Given the description of an element on the screen output the (x, y) to click on. 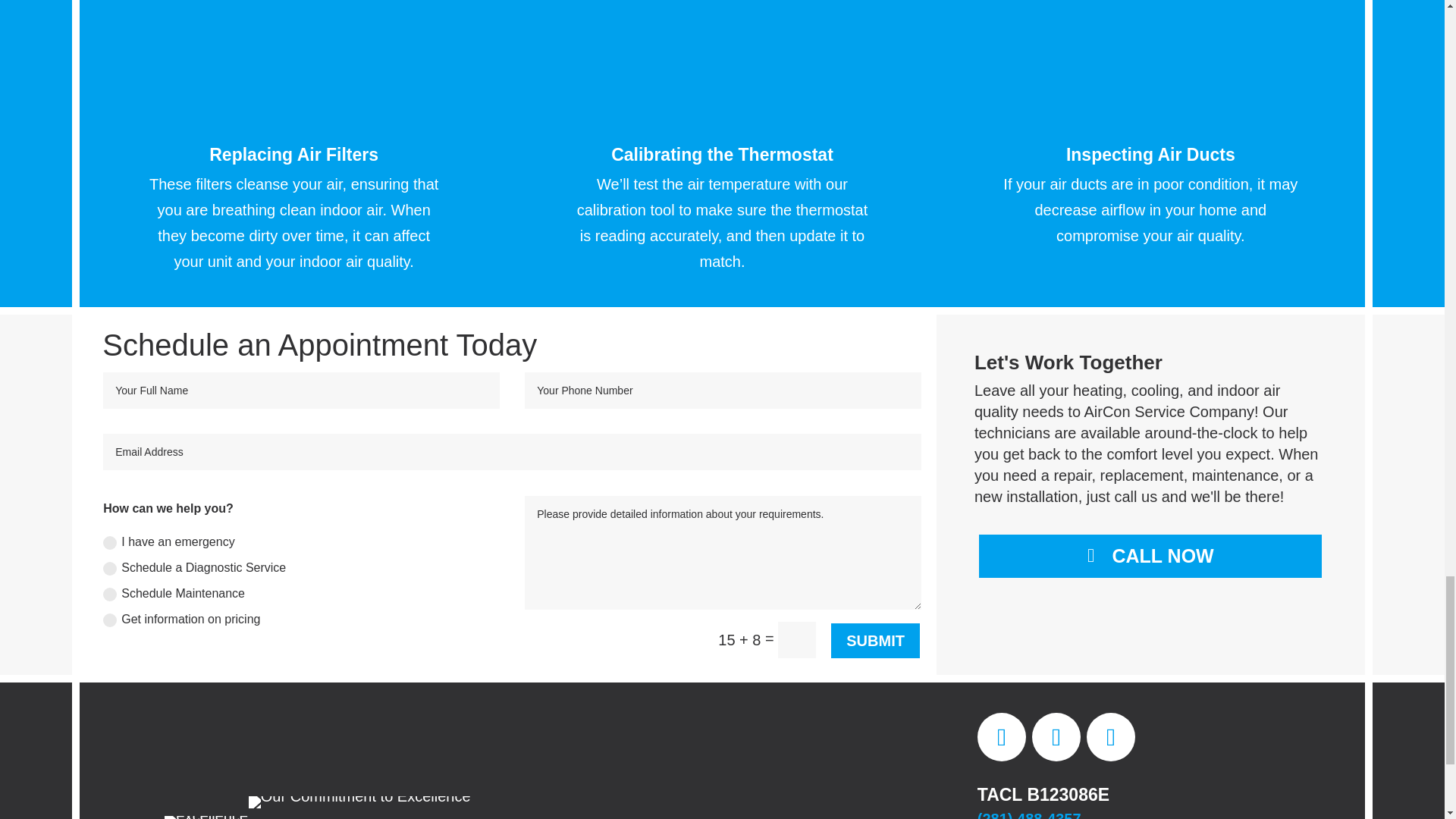
Our Commitment to Excellence (359, 802)
Follow on Facebook (1001, 736)
Follow on Instagram (1110, 736)
excellence (206, 817)
Follow on LinkedIn (1056, 736)
CALL NOW (1150, 556)
SUBMIT (875, 640)
Only numbers allowed. (722, 390)
